Given the description of an element on the screen output the (x, y) to click on. 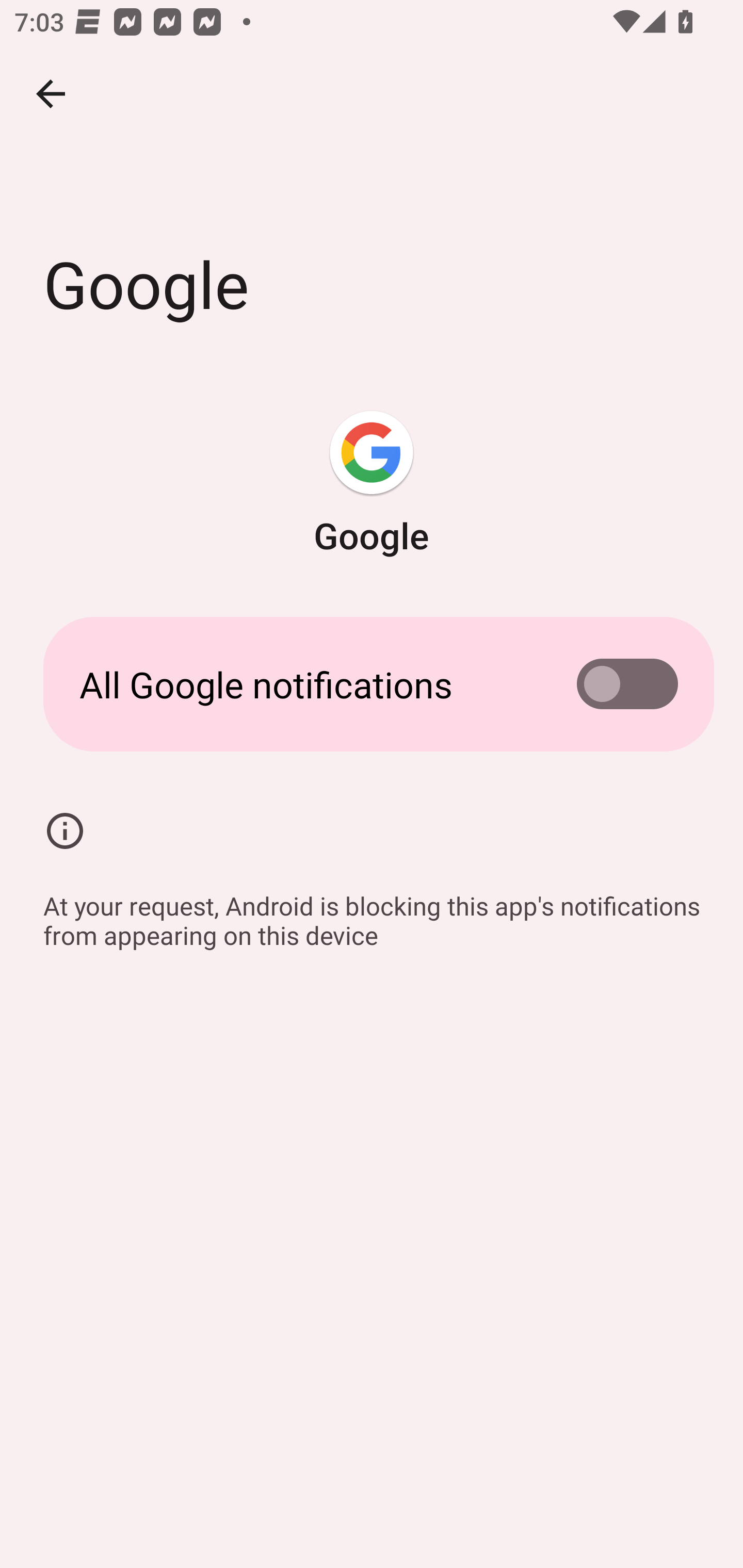
Navigate up (50, 93)
Google (371, 484)
All Google notifications (371, 684)
